Given the description of an element on the screen output the (x, y) to click on. 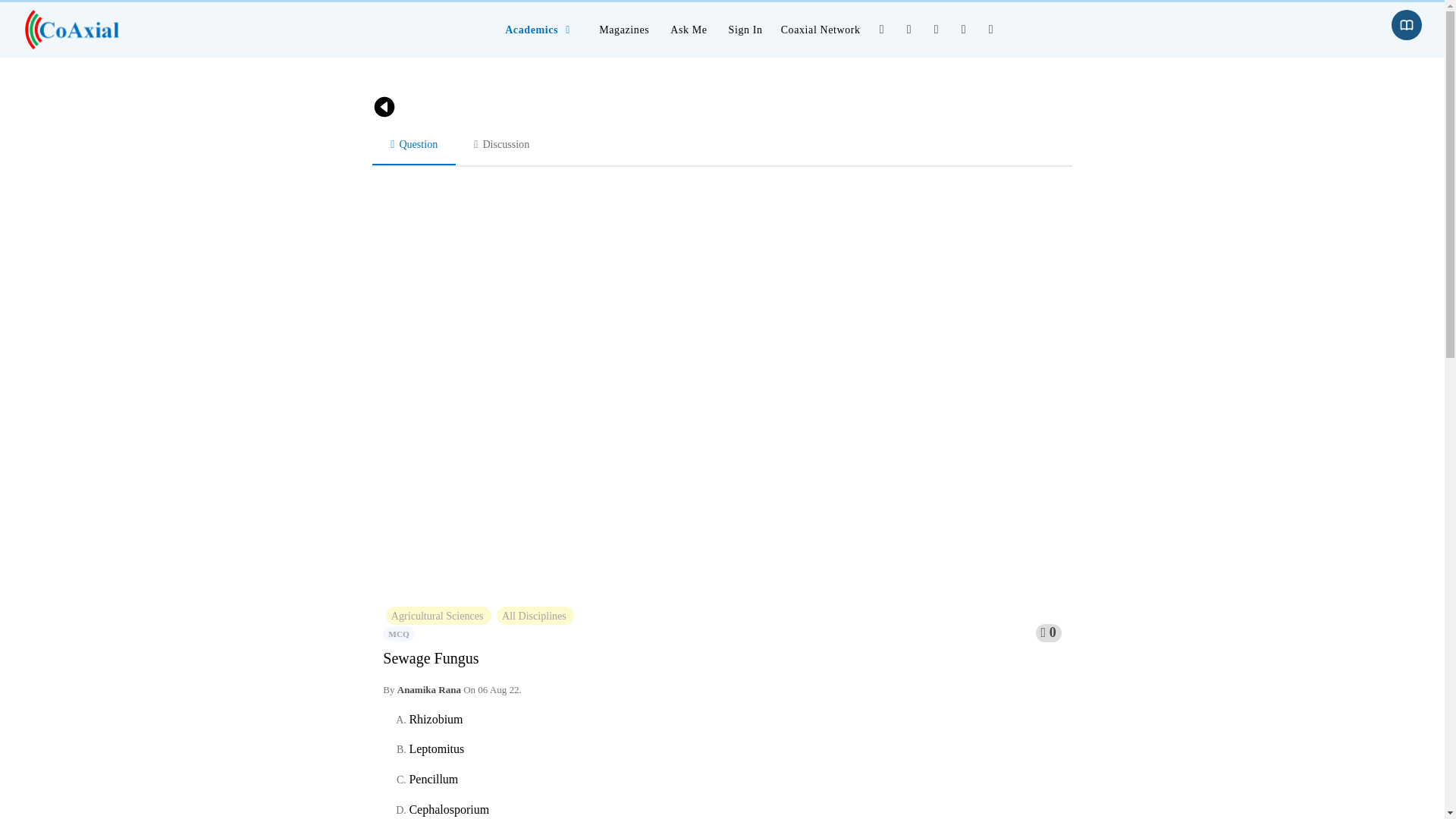
Discussion (501, 143)
Share by Facebook (881, 29)
Share by Whatsapp (936, 29)
Coaxial Network (820, 29)
All Disciplines (534, 615)
Agricultural Sciences (438, 615)
Anamika Rana (430, 689)
Share by Twitter (908, 29)
Magazines (623, 29)
Question (413, 144)
Academics (541, 29)
Sign In (745, 29)
Advertisement (1263, 201)
Advertisement (181, 413)
Share by Email (990, 29)
